Given the description of an element on the screen output the (x, y) to click on. 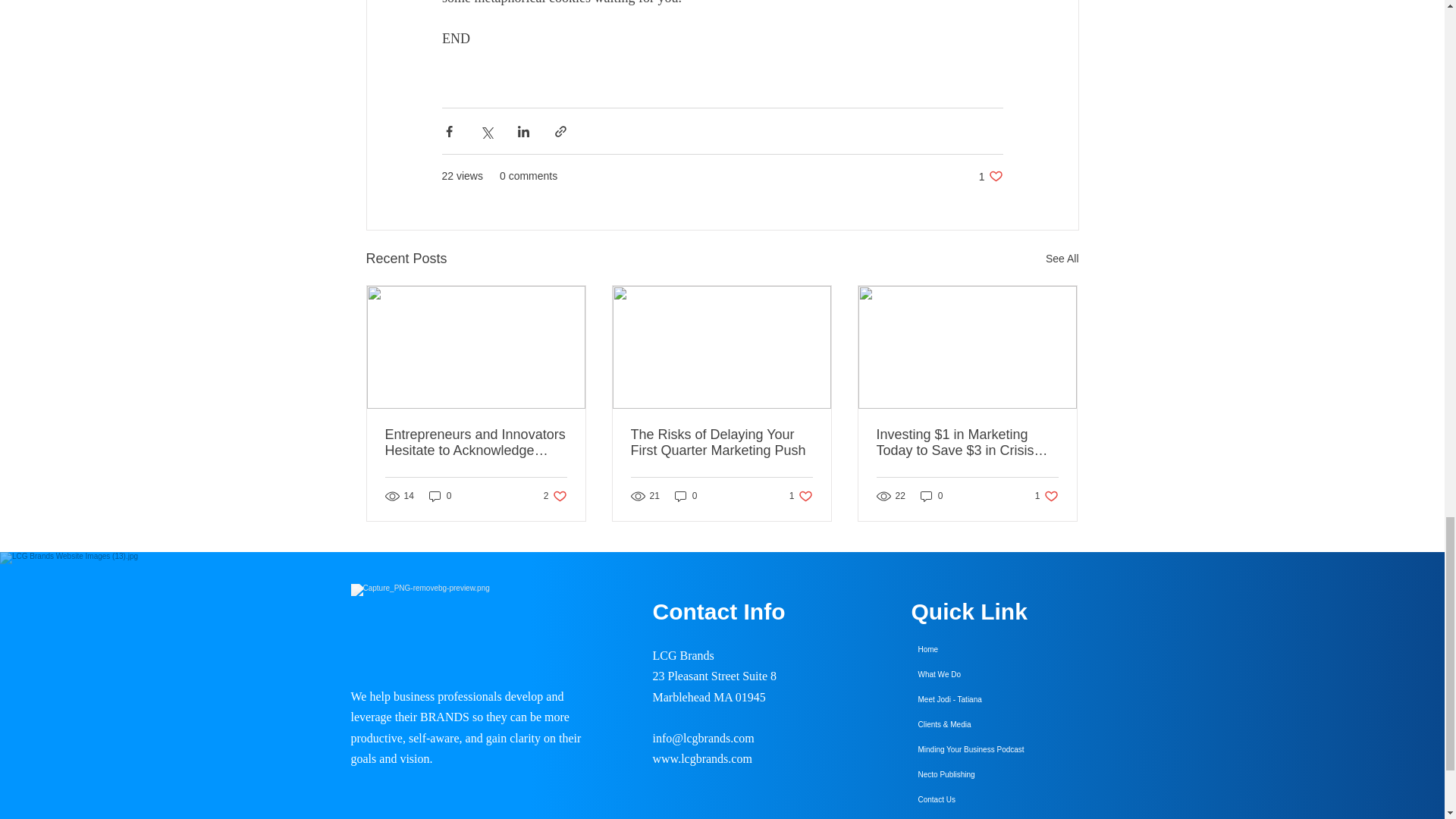
0 (990, 175)
The Risks of Delaying Your First Quarter Marketing Push (800, 495)
0 (685, 495)
See All (721, 442)
0 (555, 495)
